Given the description of an element on the screen output the (x, y) to click on. 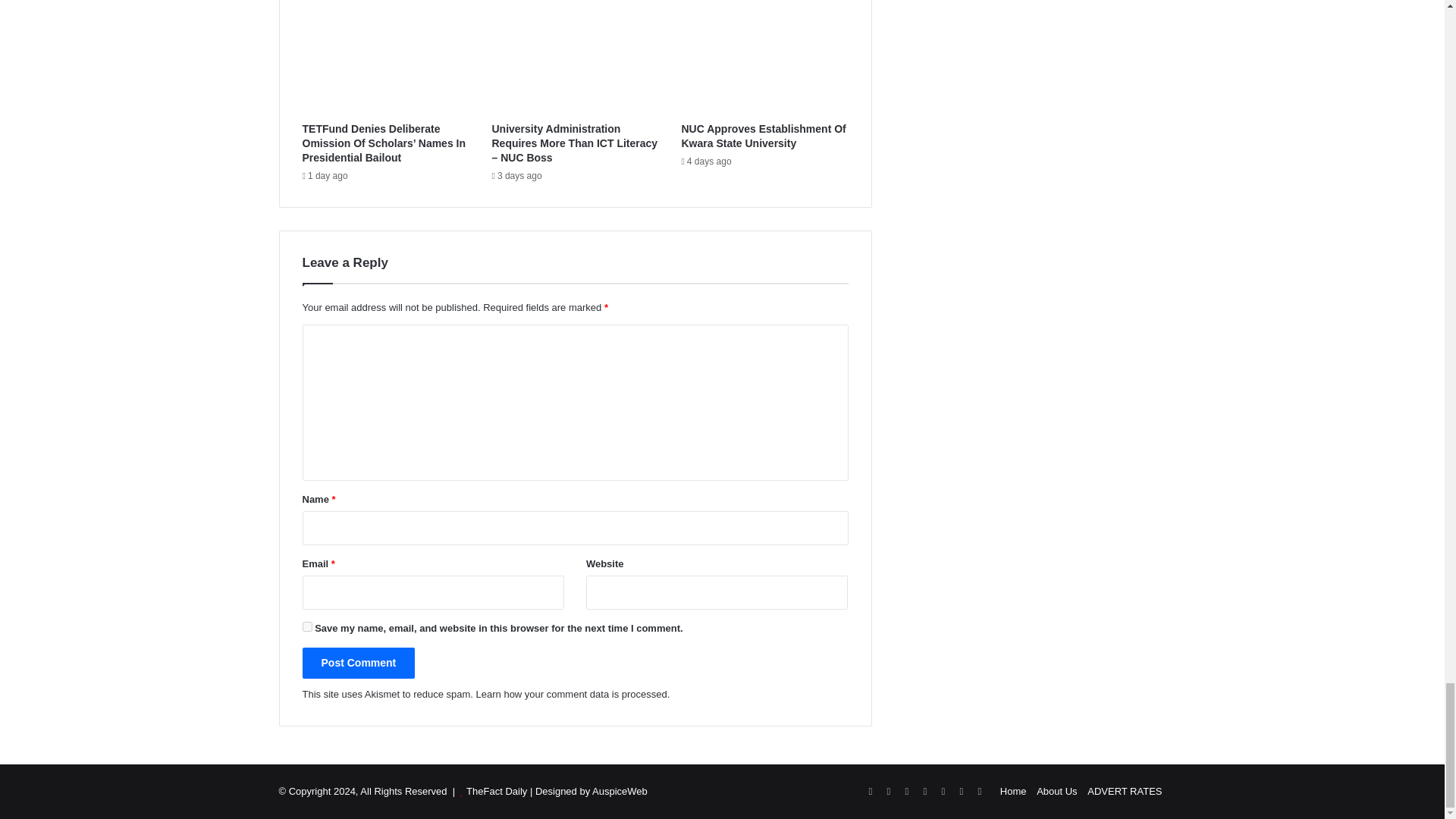
Post Comment (357, 662)
yes (306, 626)
